Given the description of an element on the screen output the (x, y) to click on. 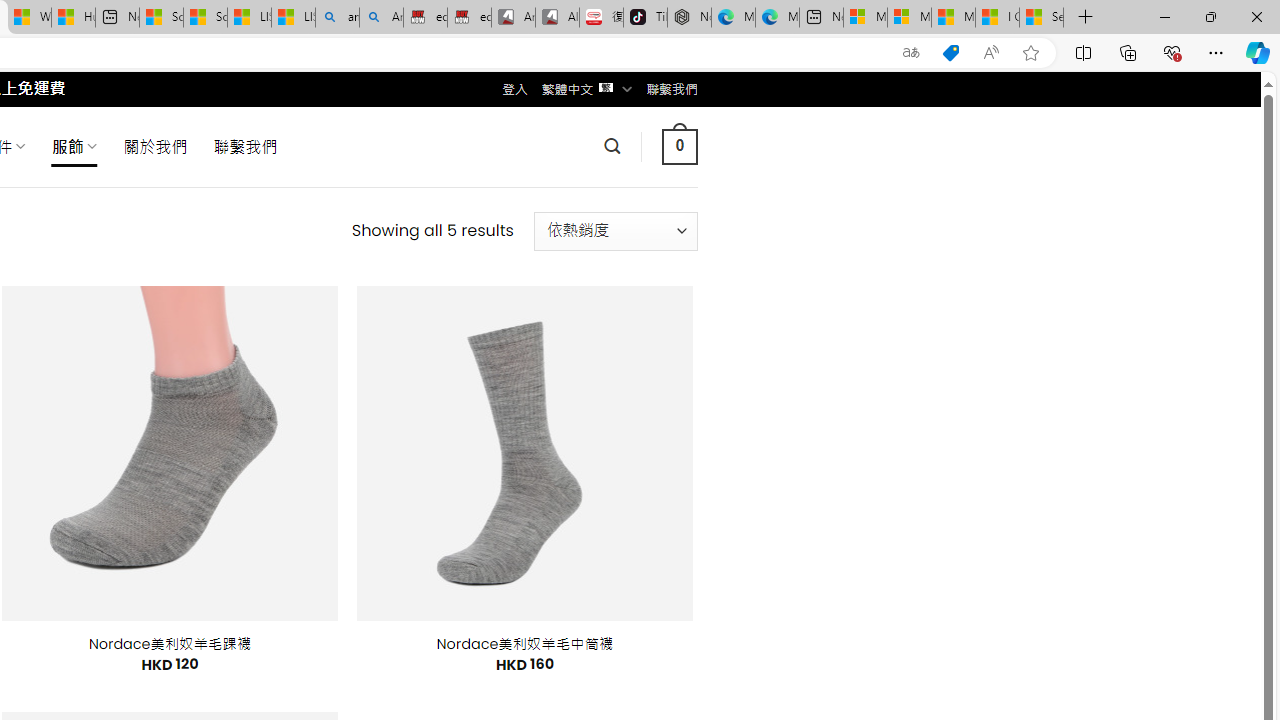
Huge shark washes ashore at New York City beach | Watch (73, 17)
TikTok (644, 17)
Show translate options (910, 53)
  0   (679, 146)
